Given the description of an element on the screen output the (x, y) to click on. 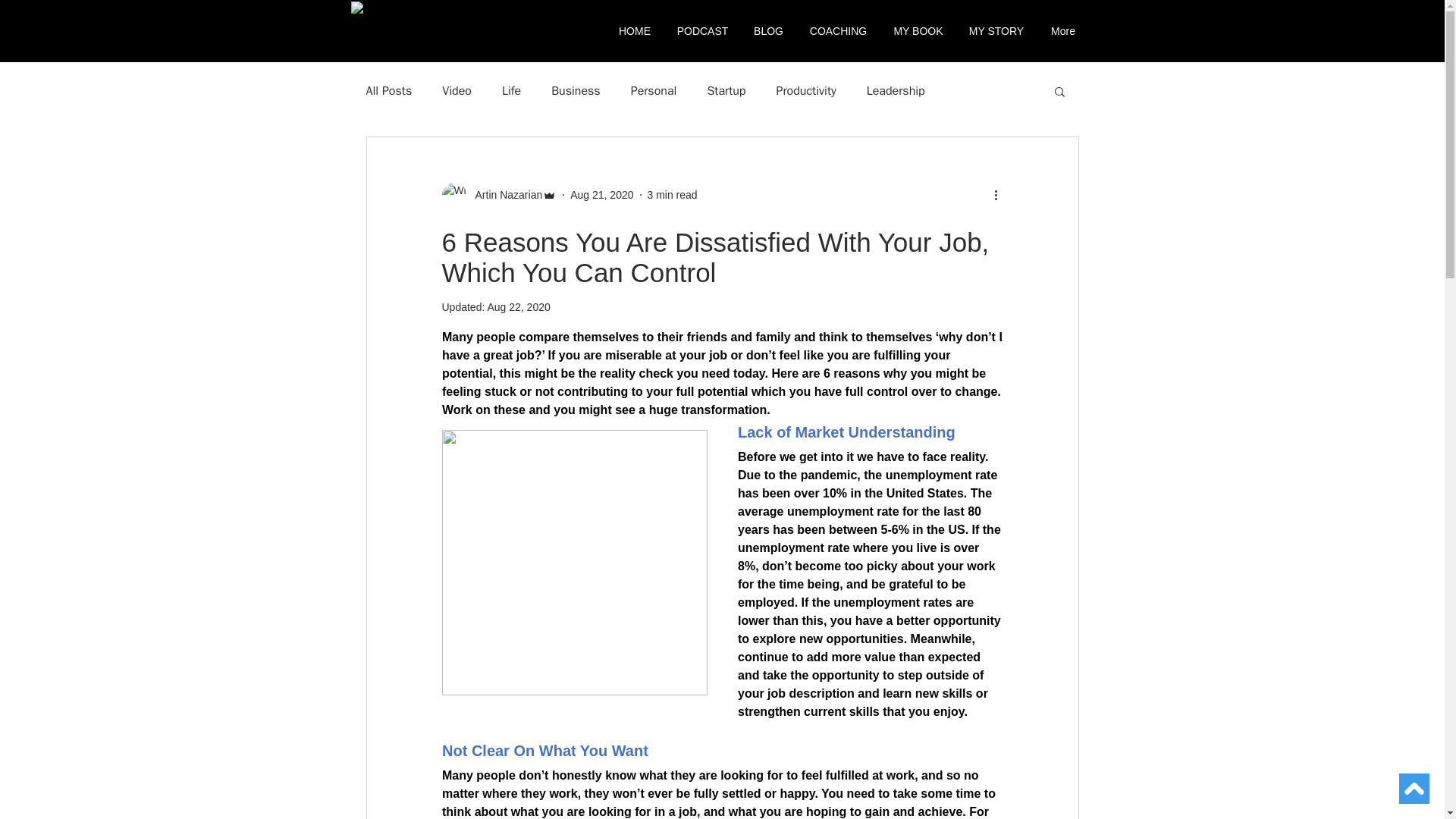
Leadership (895, 91)
Business (575, 91)
Startup (725, 91)
Artin Nazarian (498, 194)
Aug 21, 2020 (601, 193)
Productivity (805, 91)
Artin Nazarian (503, 194)
MY BOOK (917, 30)
HOME (635, 30)
MY STORY (996, 30)
